Given the description of an element on the screen output the (x, y) to click on. 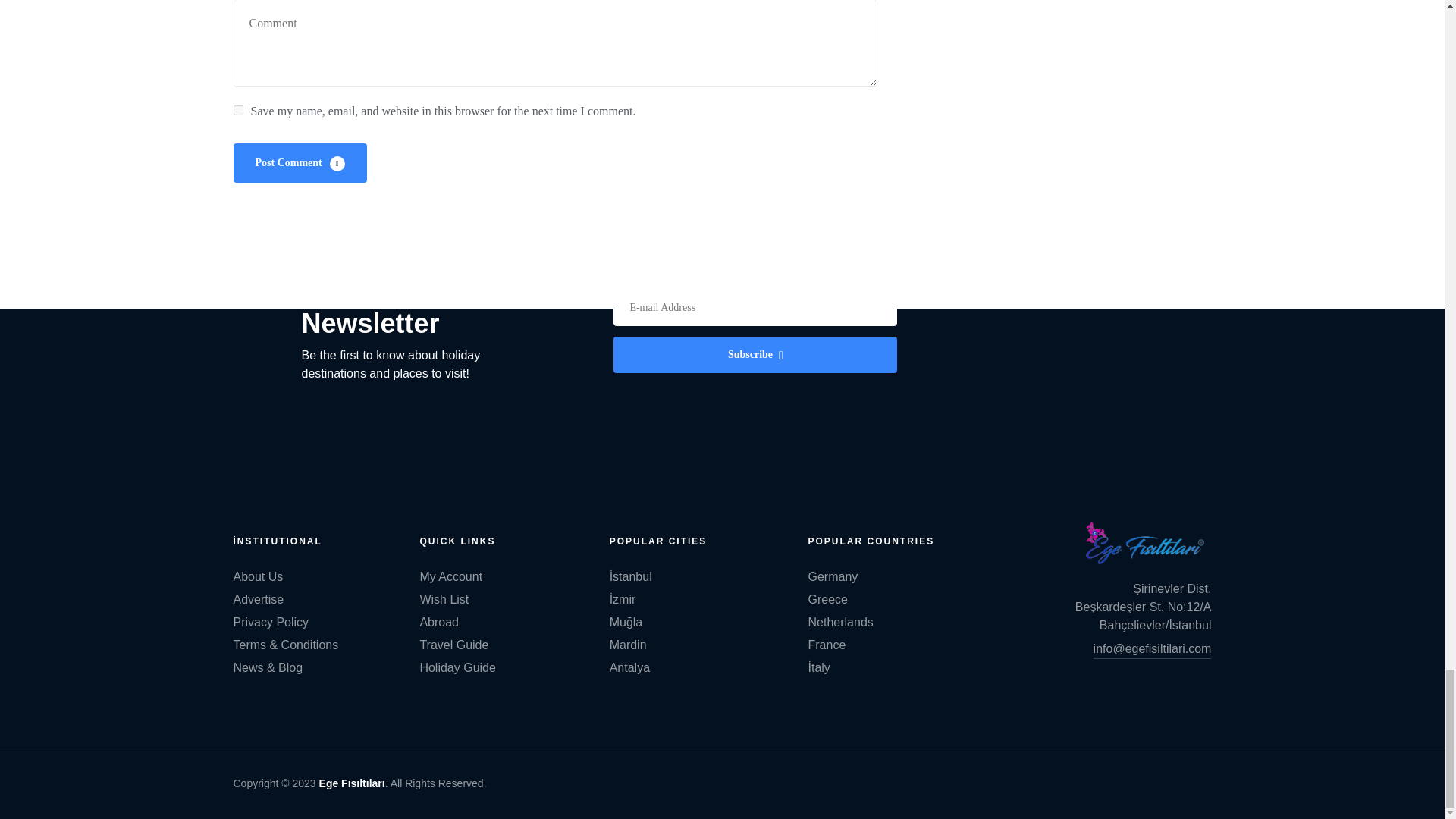
yes (237, 110)
